Given the description of an element on the screen output the (x, y) to click on. 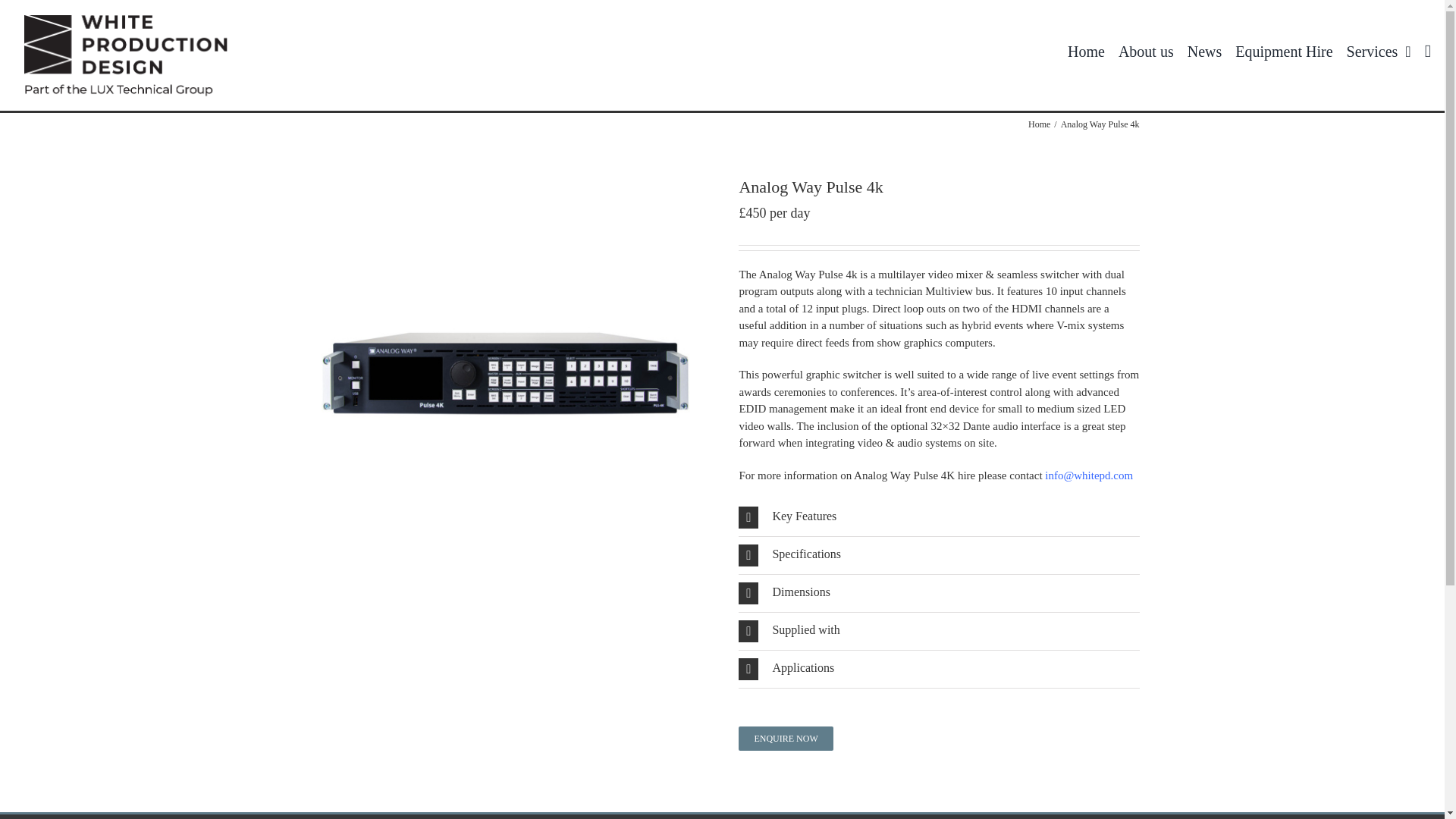
Services (1385, 51)
Dimensions (938, 592)
Equipment Hire (1289, 51)
Specifications (938, 555)
Home (1038, 123)
Key Features (938, 517)
About us (1153, 51)
ENQUIRE NOW (785, 738)
Supplied with (938, 631)
Applications (938, 668)
